Given the description of an element on the screen output the (x, y) to click on. 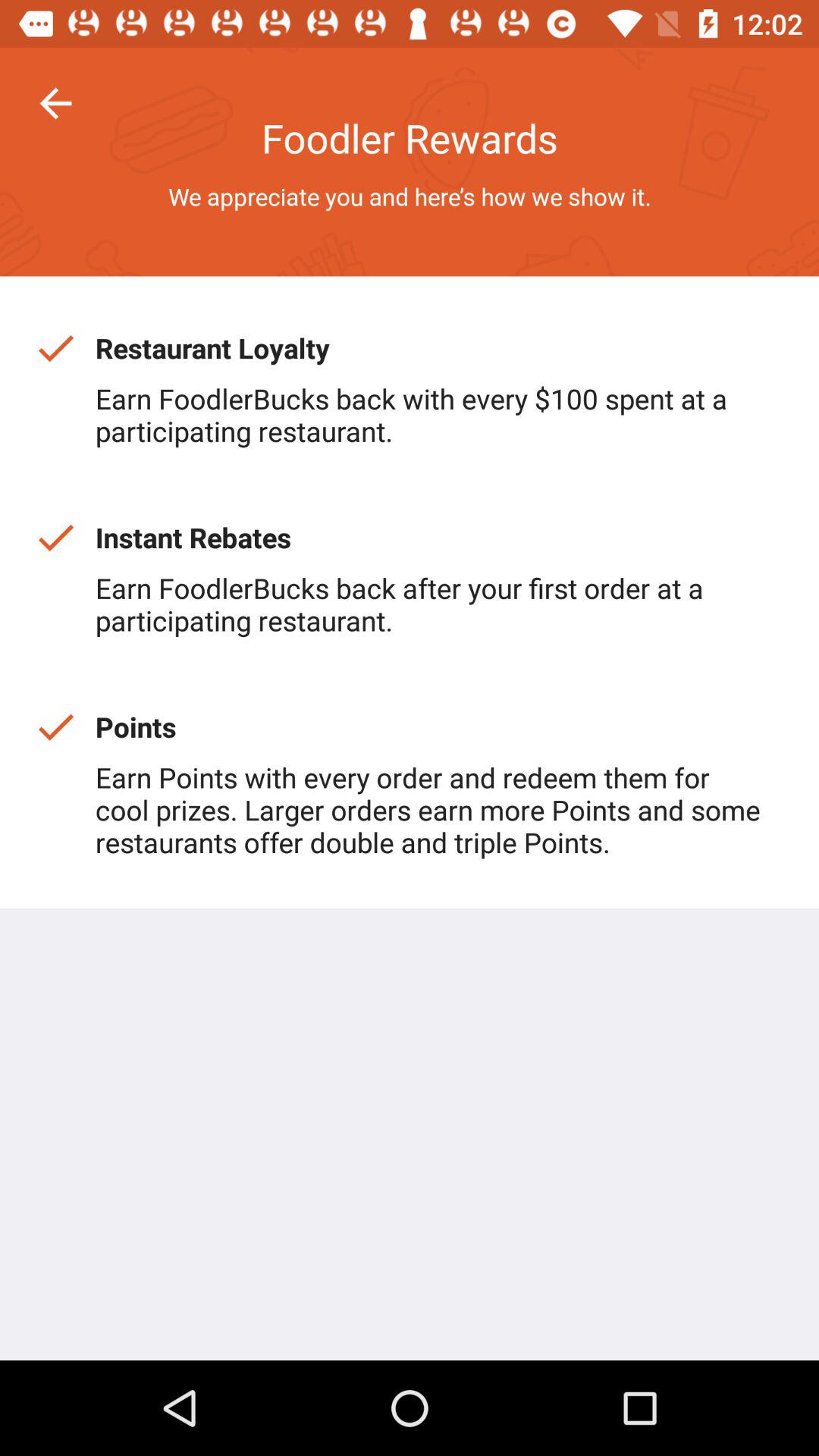
go to the check mark icon which is just beside the points (55, 727)
